Given the description of an element on the screen output the (x, y) to click on. 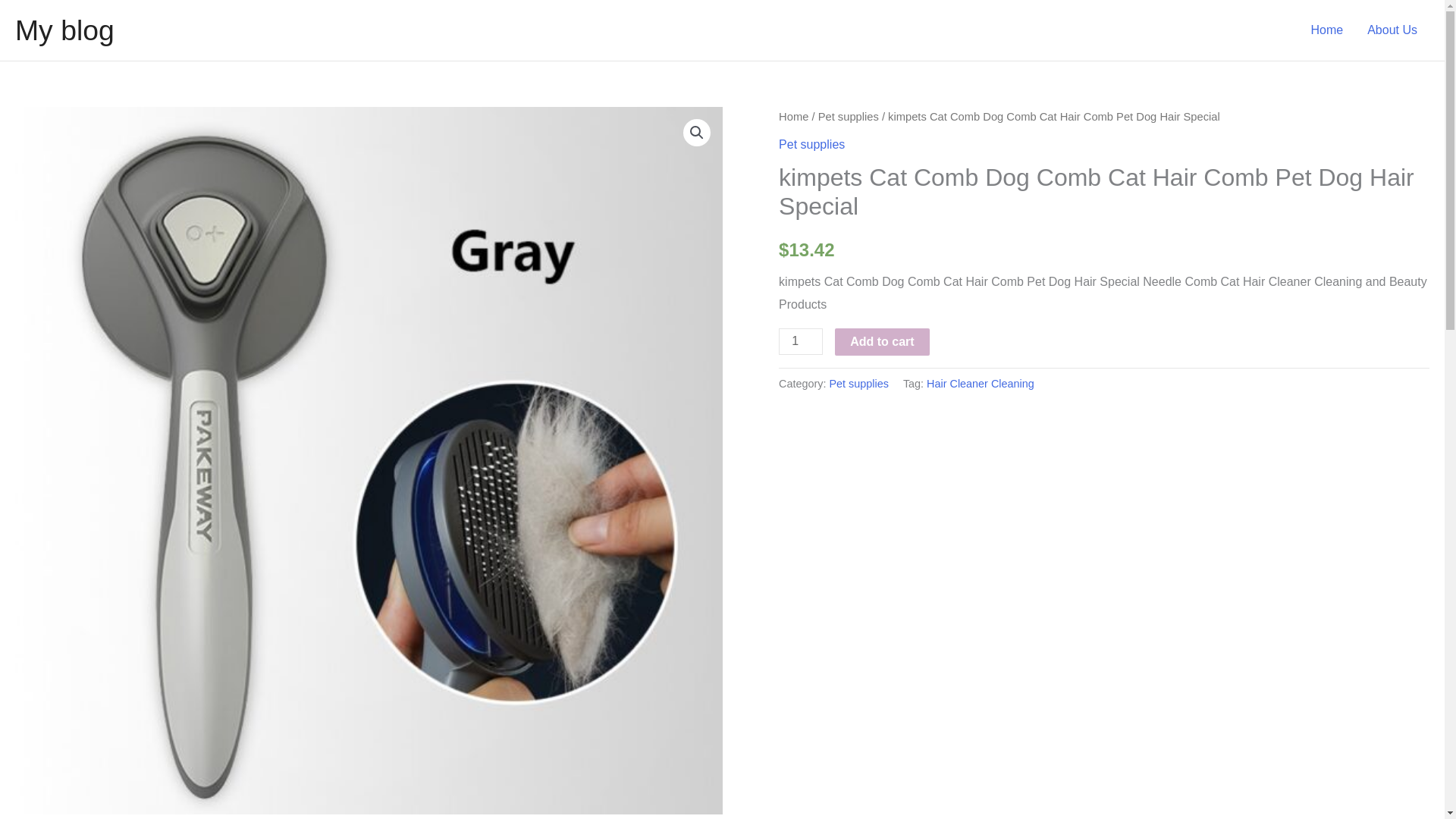
Home (1326, 30)
1 (800, 341)
Qty (800, 341)
Pet supplies (811, 144)
Pet supplies (848, 116)
Home (793, 116)
Pet supplies (858, 383)
My blog (64, 29)
About Us (1392, 30)
Add to cart (881, 341)
Hair Cleaner Cleaning (979, 383)
